Given the description of an element on the screen output the (x, y) to click on. 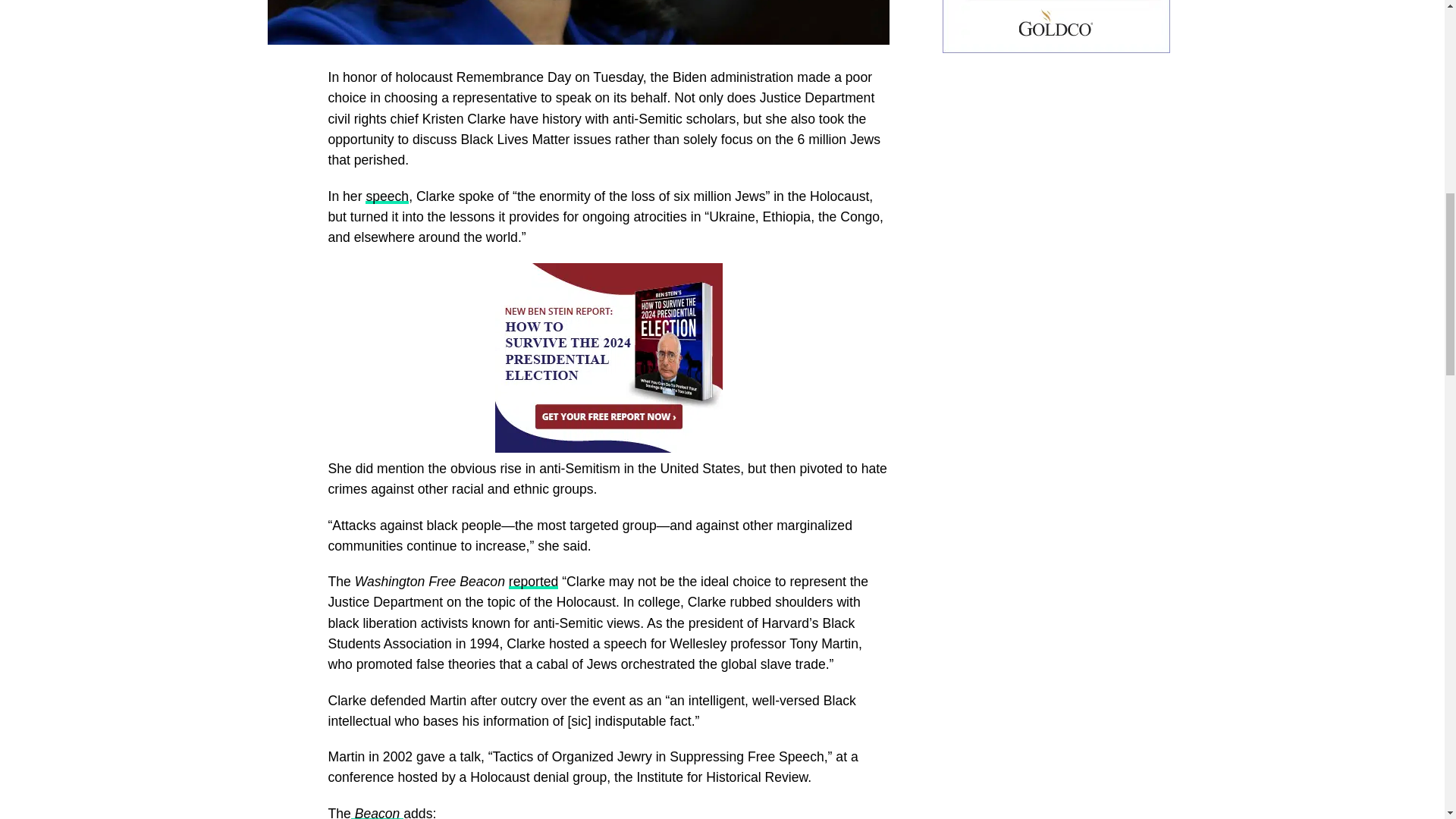
Beacon (376, 812)
speech (387, 196)
reported (533, 581)
